Given the description of an element on the screen output the (x, y) to click on. 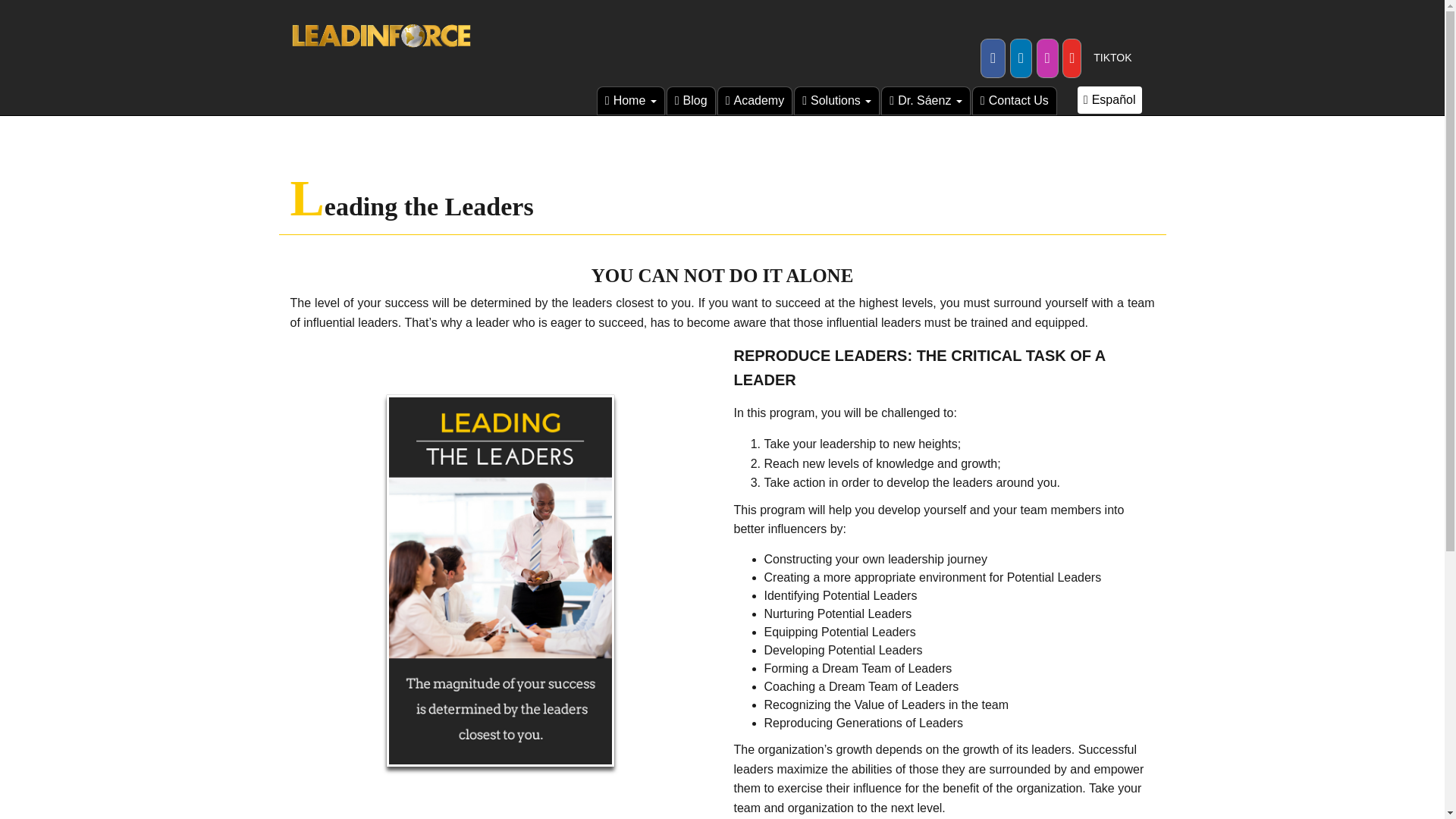
Academy (755, 100)
YOUTUBE (1071, 57)
Follow me on TikTok (1112, 57)
LEADINFORCE Academy (755, 100)
LEADINFORCE (630, 100)
Solutions (836, 100)
LINKEDIN (1021, 57)
Follow me on Instagram (1047, 57)
FACEBOOK (993, 57)
INSTAGRAM (1047, 57)
Follow me on LinkedIn (1021, 57)
Blog (691, 100)
Follow me on Facebook (993, 57)
Follow me on Youtube (1071, 57)
Our Solutions (836, 100)
